Given the description of an element on the screen output the (x, y) to click on. 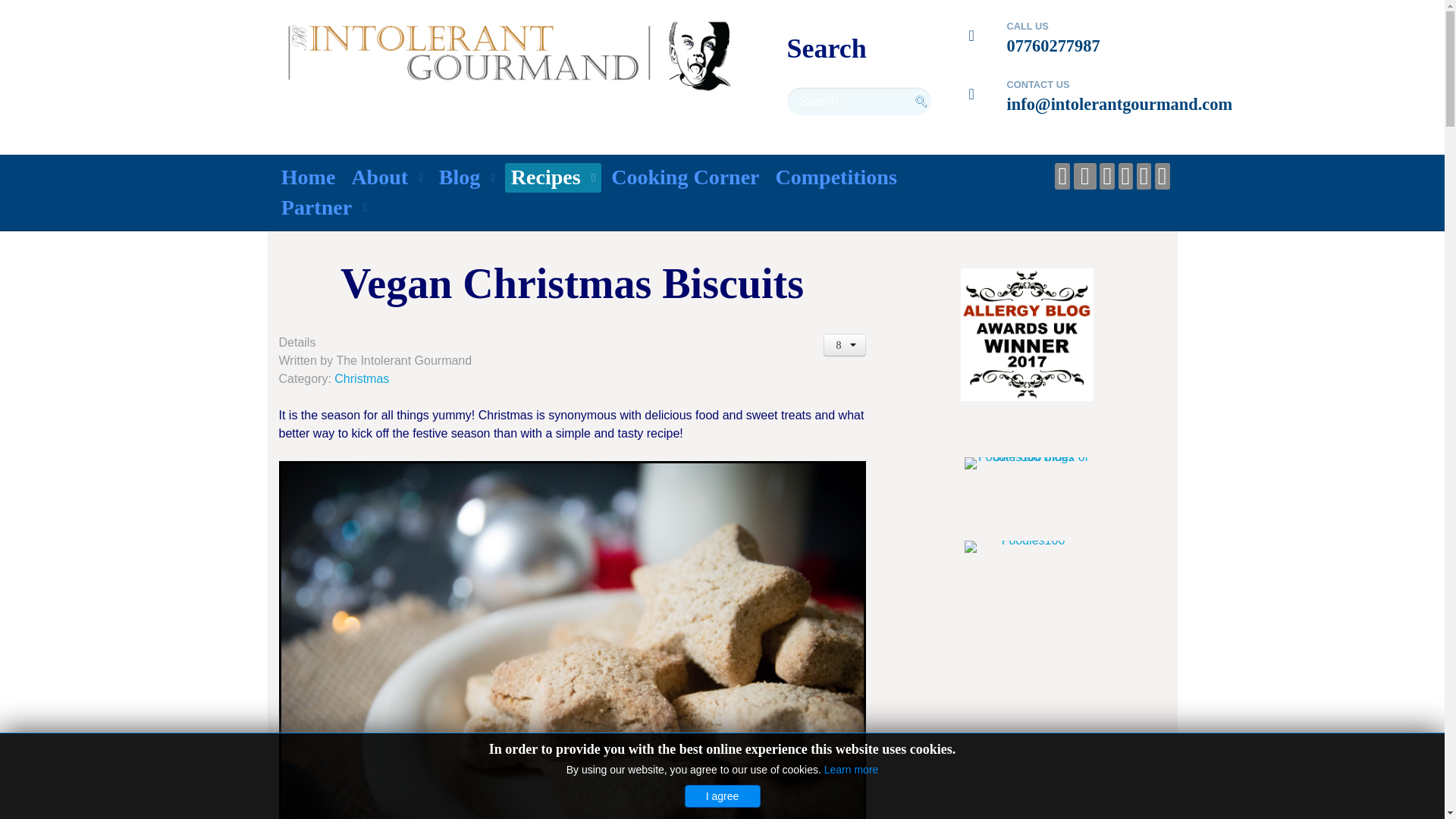
Partner (323, 207)
Cooking Corner (685, 177)
Home (307, 177)
Callisto (505, 56)
About (387, 177)
Competitions (836, 177)
Blog (466, 177)
Recipes (552, 177)
